Given the description of an element on the screen output the (x, y) to click on. 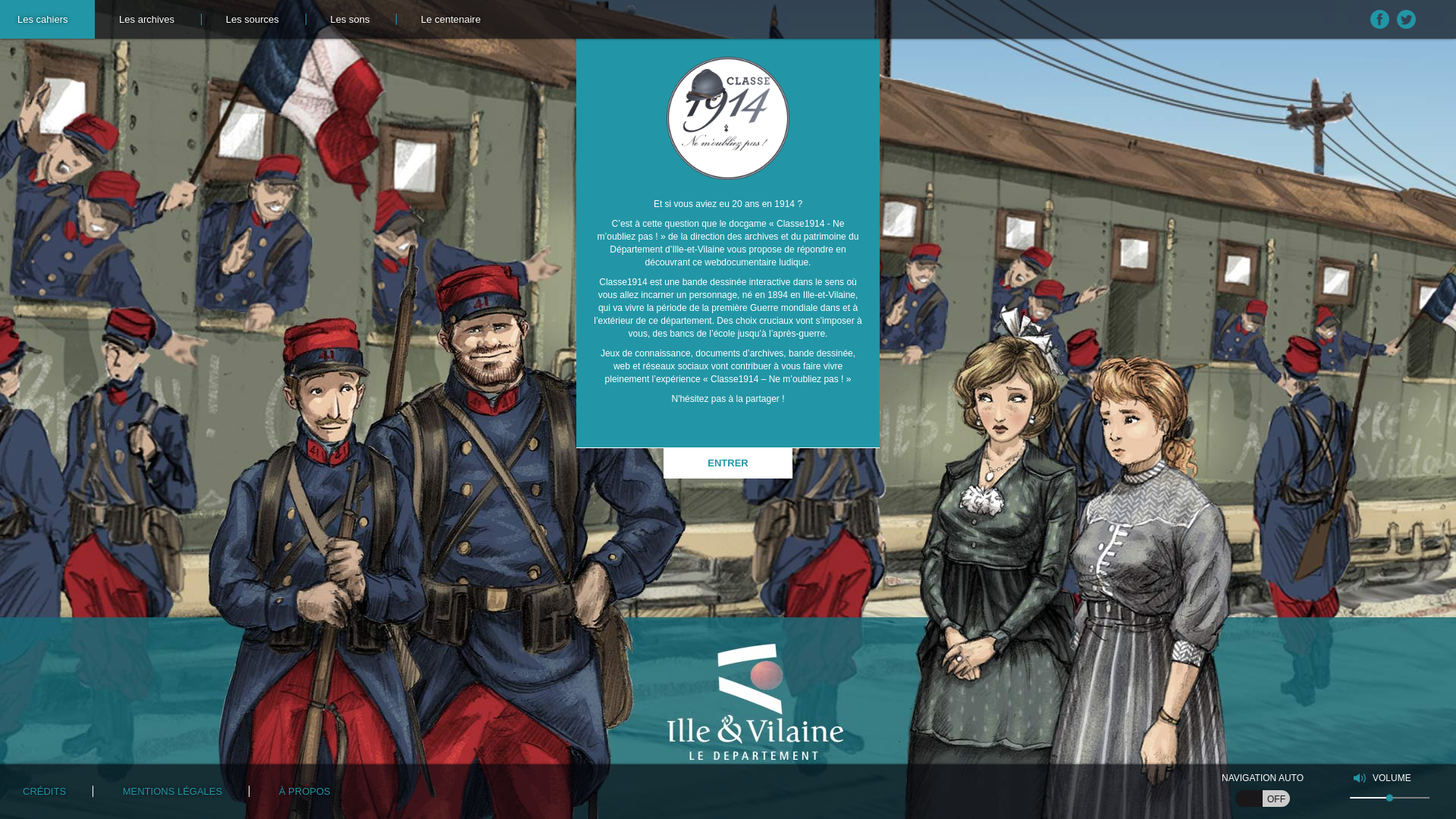
Les archives Element type: text (146, 19)
Les sources Element type: text (252, 19)
Les sons Element type: text (349, 19)
Le centenaire Element type: text (450, 19)
ENTRER Element type: text (727, 463)
